Given the description of an element on the screen output the (x, y) to click on. 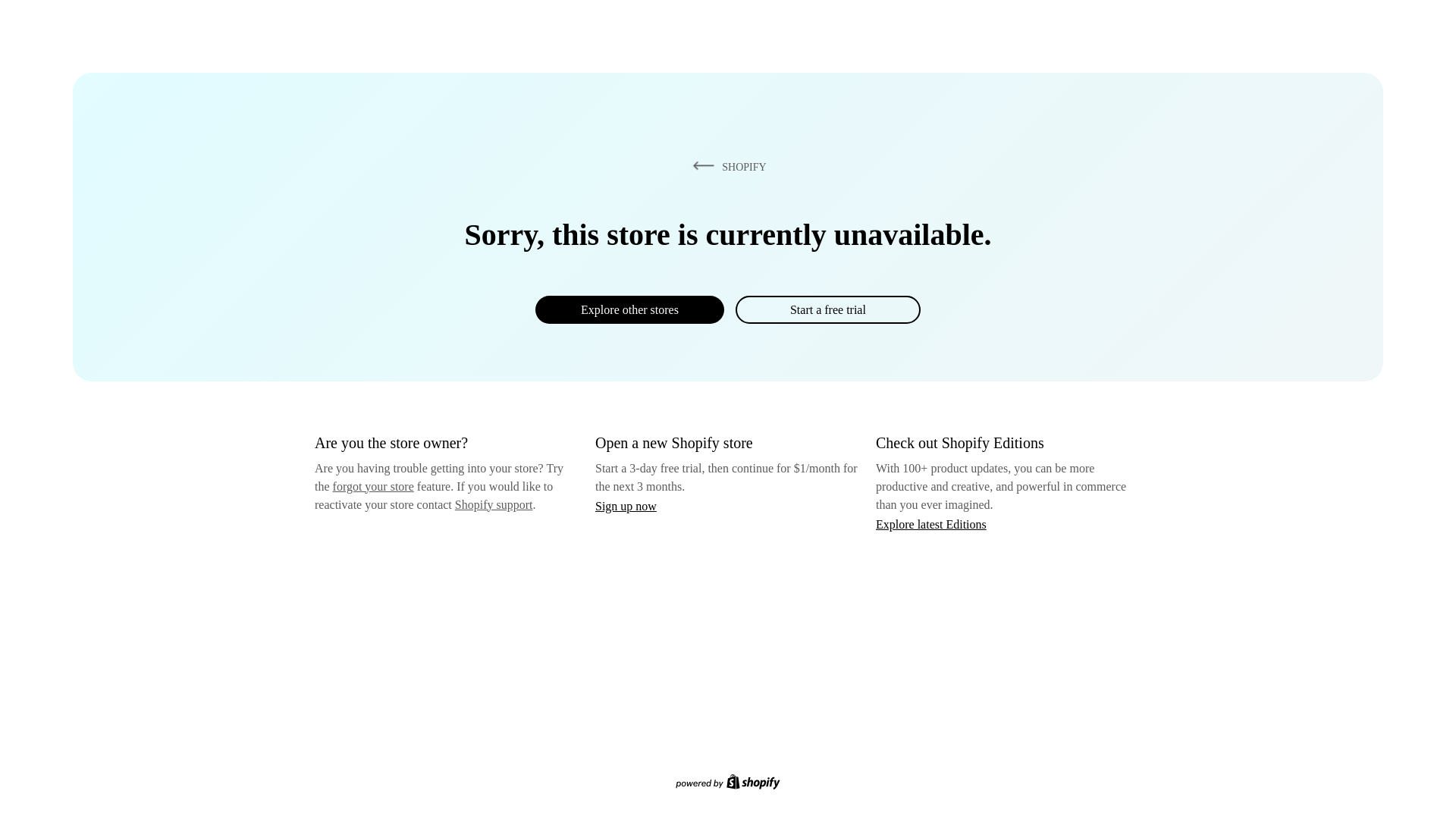
Sign up now (625, 505)
Shopify support (493, 504)
Start a free trial (827, 309)
Explore other stores (629, 309)
Explore latest Editions (931, 523)
forgot your store (373, 486)
SHOPIFY (726, 166)
